Given the description of an element on the screen output the (x, y) to click on. 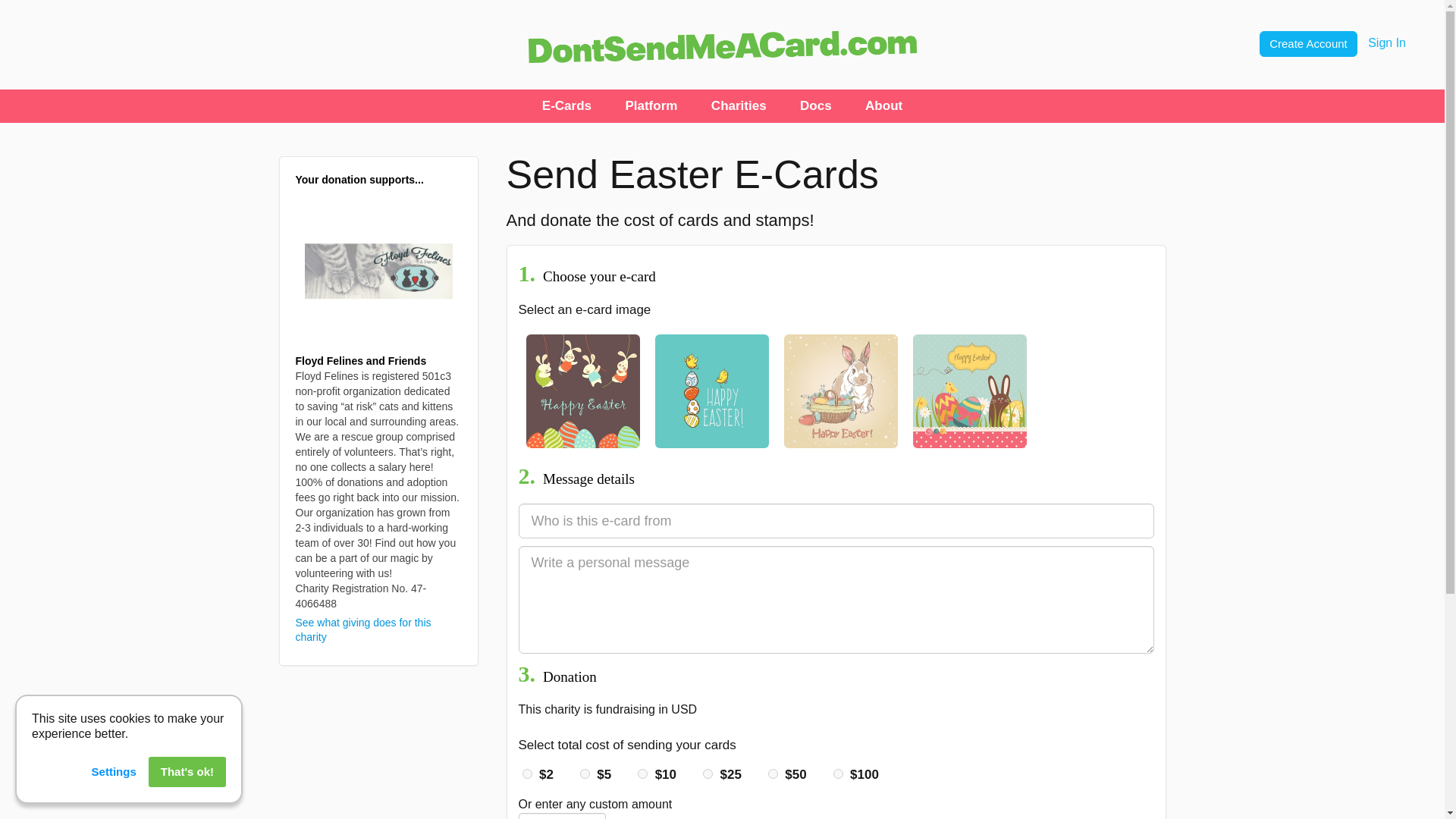
5 (584, 773)
Create Account (1307, 43)
10 (642, 773)
25 (708, 773)
Sign In (1387, 42)
100 (837, 773)
2 (526, 773)
Create Account (1308, 42)
50 (772, 773)
